Given the description of an element on the screen output the (x, y) to click on. 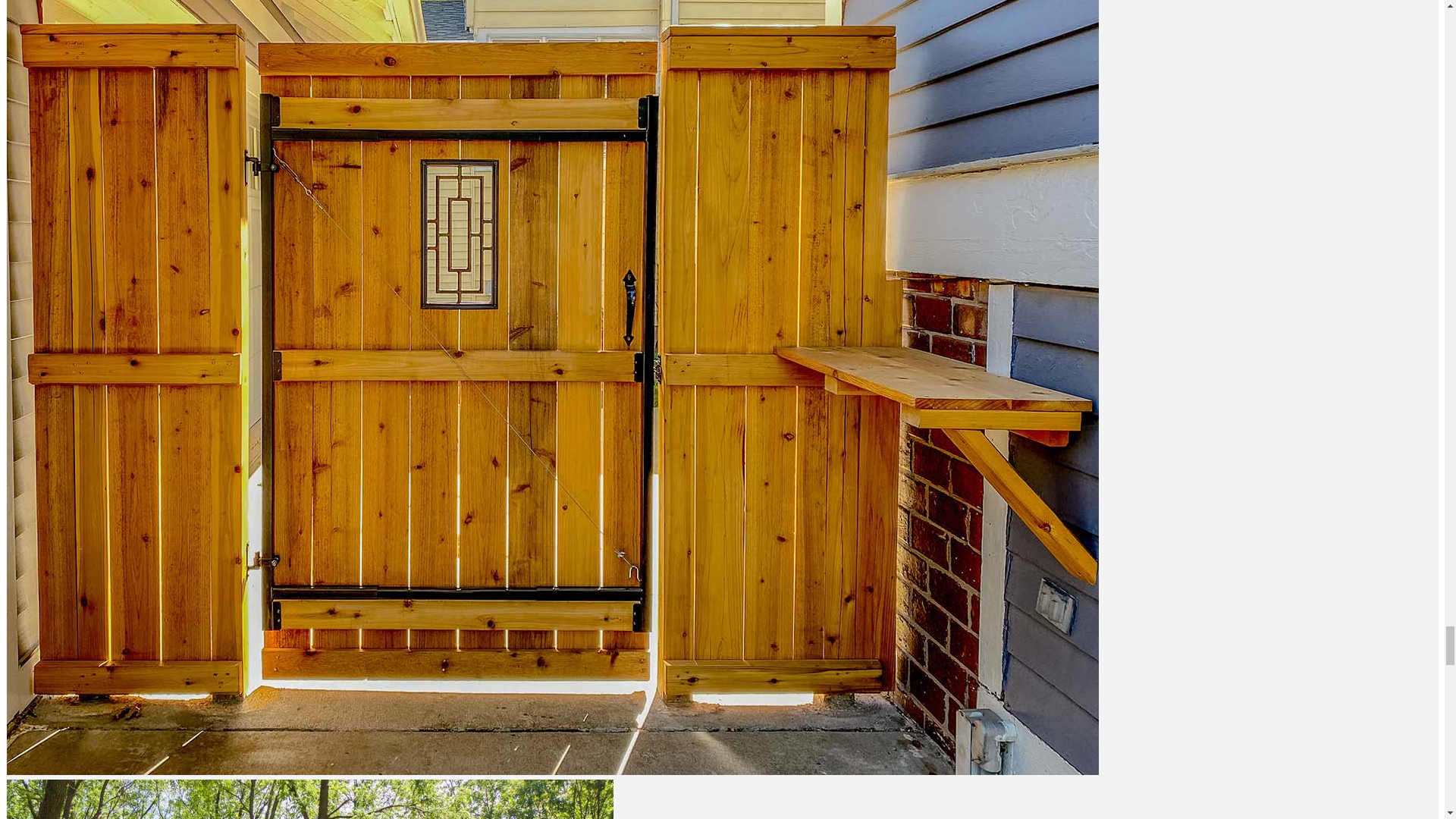
Commercial fencing contractor in Cedar Falls, Iowa (722, 799)
